Given the description of an element on the screen output the (x, y) to click on. 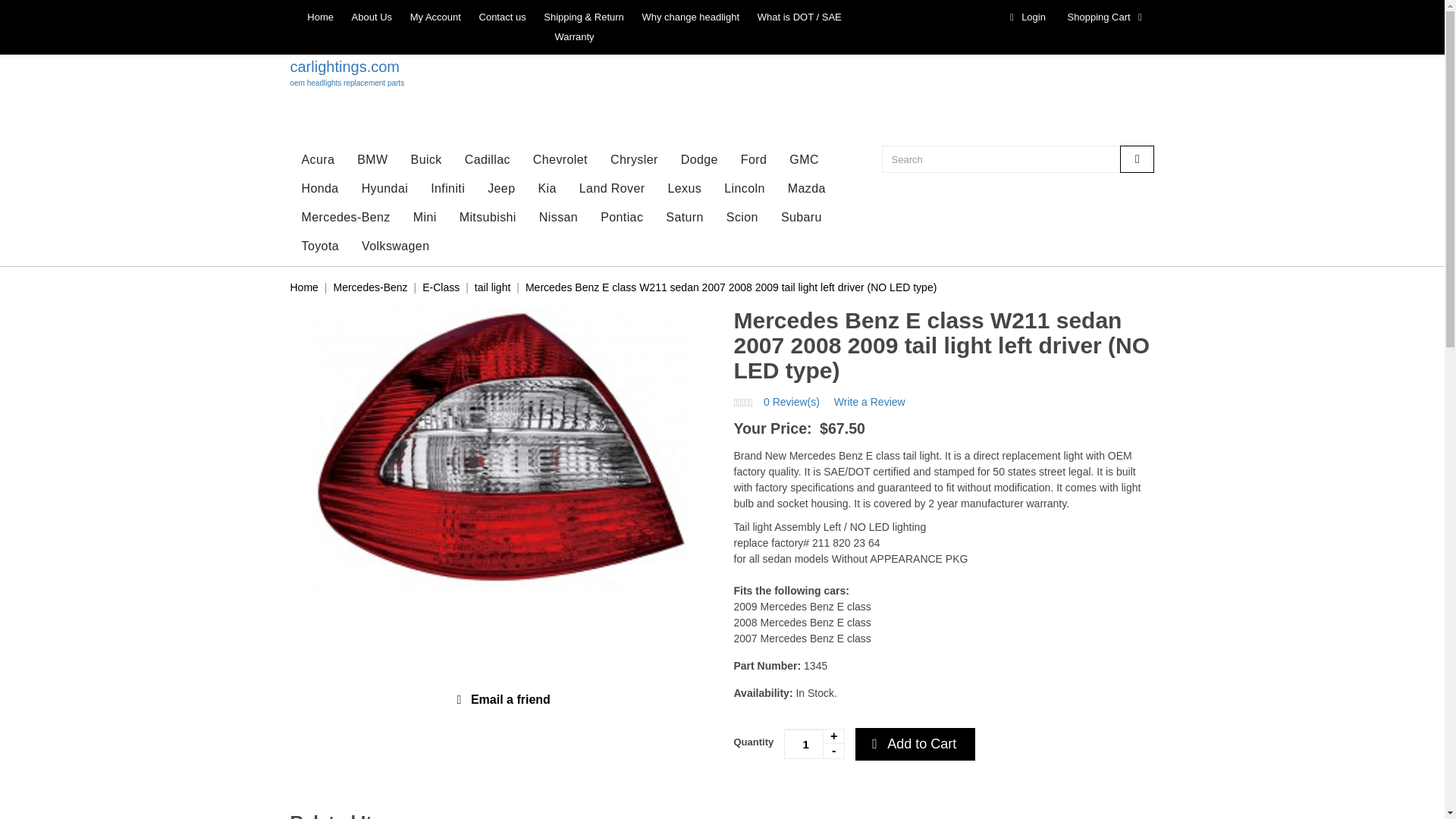
Ford (721, 72)
Cadillac (753, 159)
GMC (486, 159)
carlightings.com (803, 159)
Pontiac (721, 72)
Lincoln (621, 217)
Shopping Cart (744, 188)
Nissan (1107, 16)
Infiniti (558, 217)
Home (447, 188)
Why change headlight (320, 16)
My Account (690, 16)
Subaru (435, 16)
Acura (801, 217)
